Given the description of an element on the screen output the (x, y) to click on. 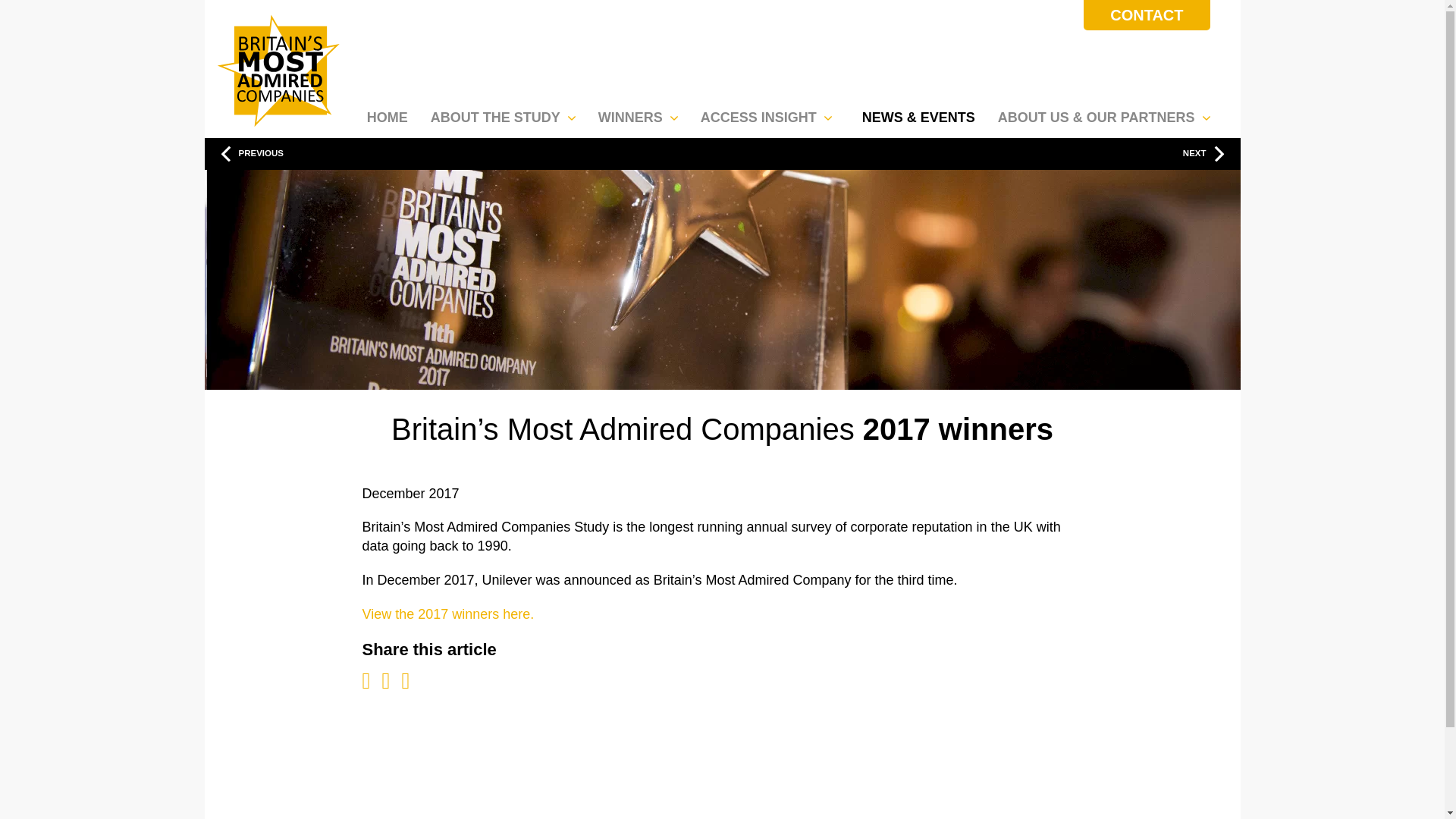
ABOUT THE STUDY (506, 113)
NEXT (973, 153)
View the 2017 winners here. (448, 613)
CONTACT (1146, 15)
PREVIOUS (470, 153)
HOME (386, 113)
ACCESS INSIGHT (770, 113)
WINNERS (641, 113)
